Given the description of an element on the screen output the (x, y) to click on. 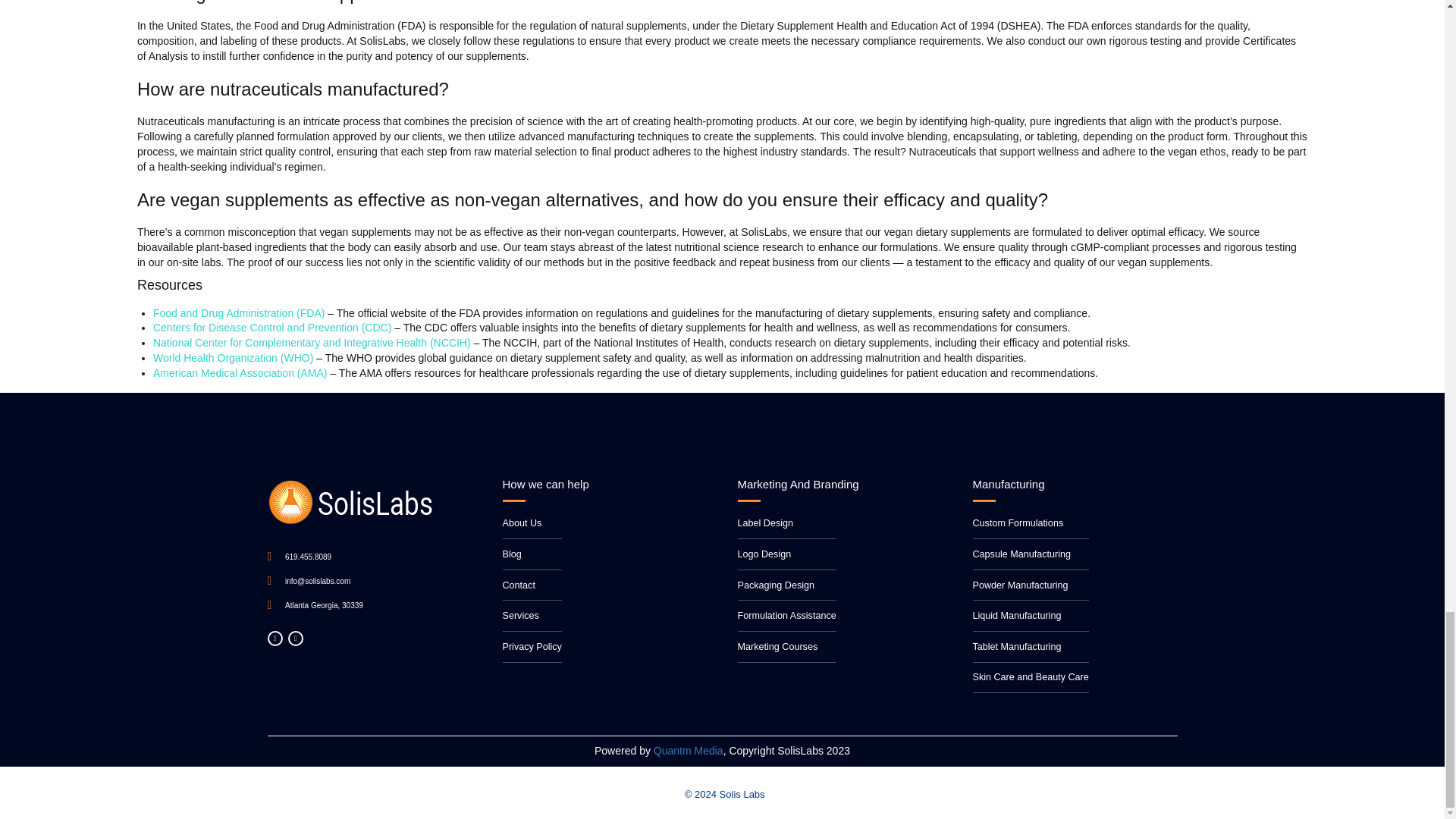
Solilab-footer (349, 502)
San Diego SEO Agency (688, 750)
619.455.8089  (298, 556)
Atlanta Georgia, 30339 (314, 604)
